Given the description of an element on the screen output the (x, y) to click on. 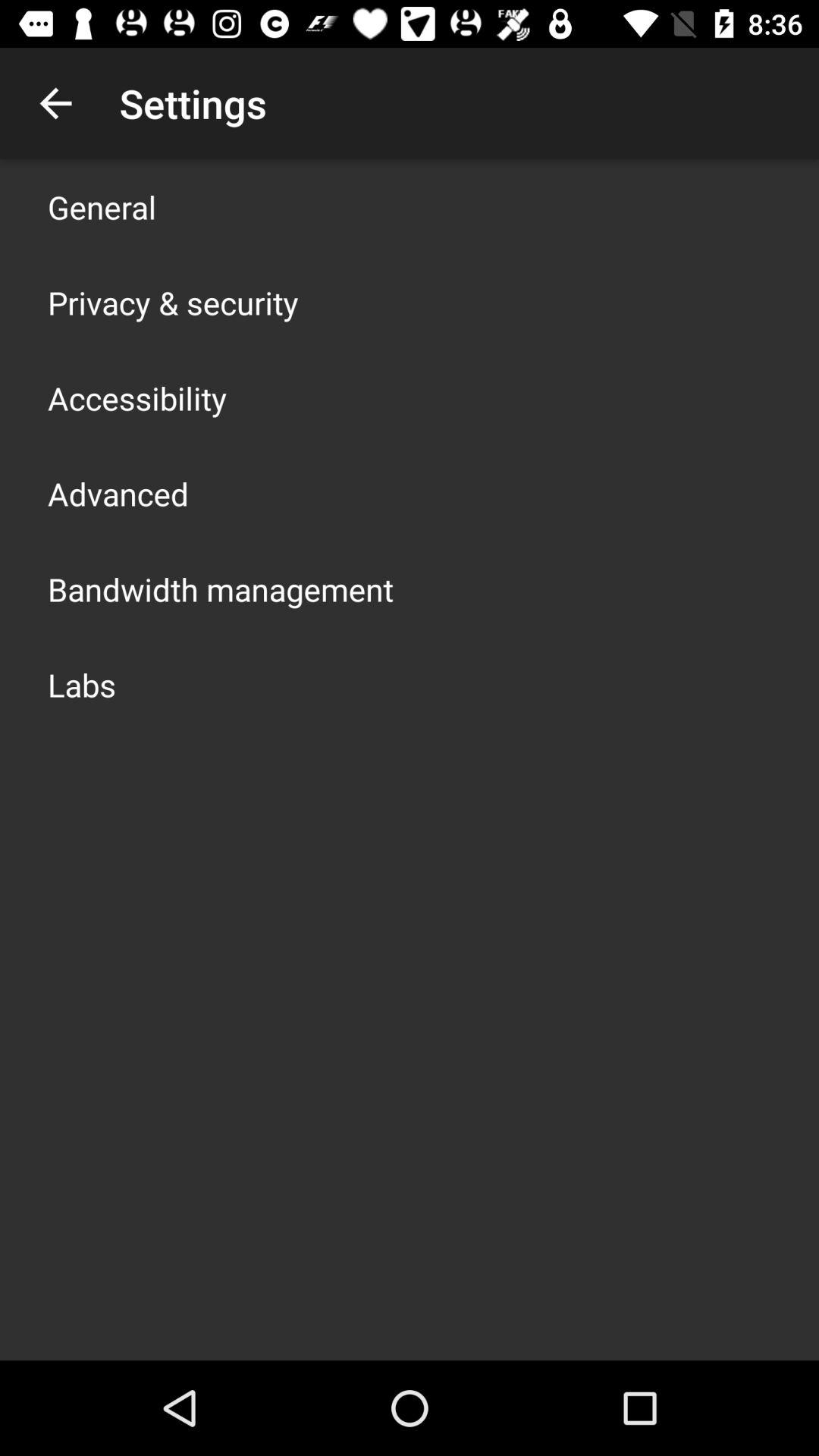
click bandwidth management app (220, 588)
